Given the description of an element on the screen output the (x, y) to click on. 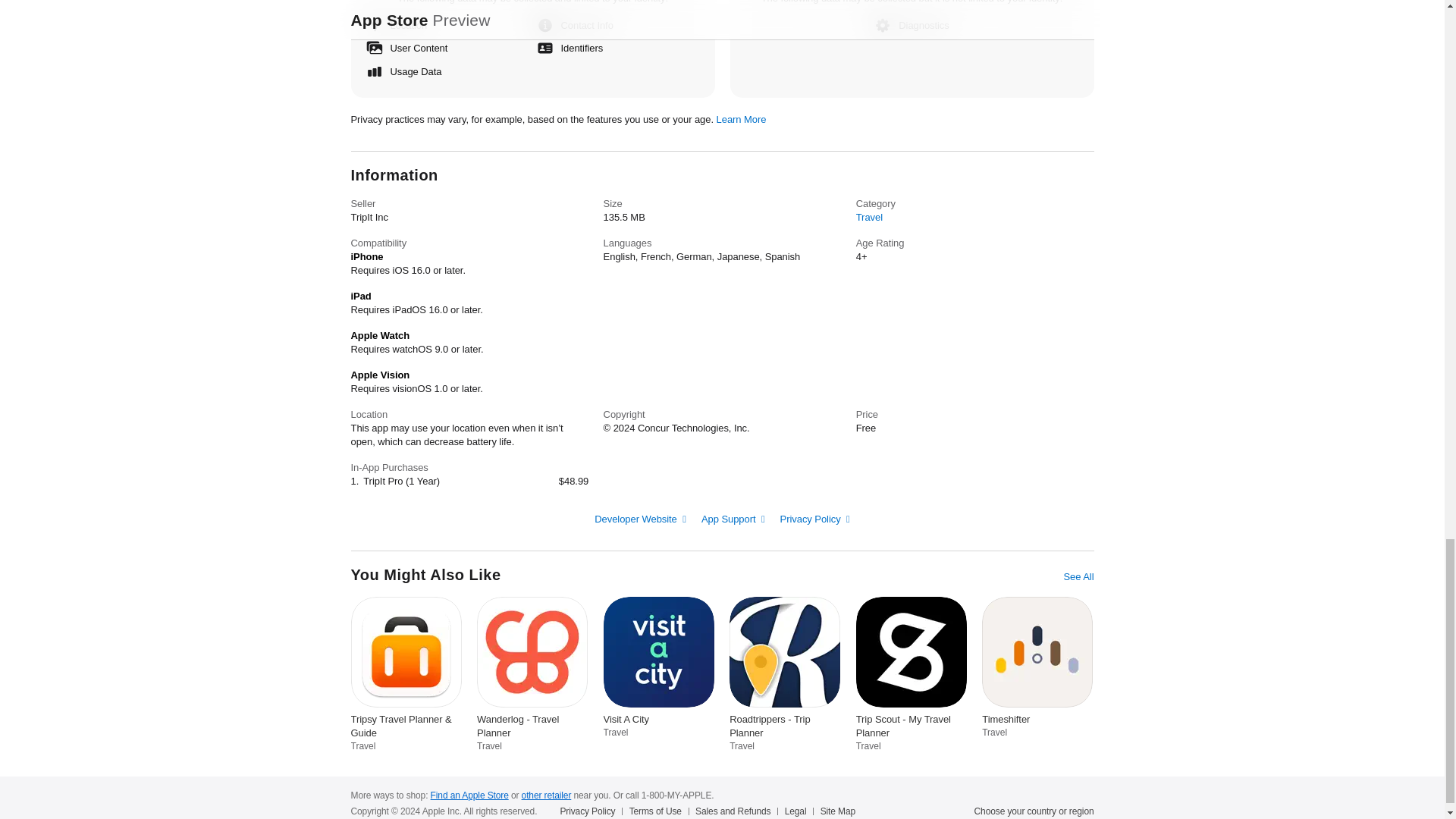
Choose your country or region (1034, 811)
